Given the description of an element on the screen output the (x, y) to click on. 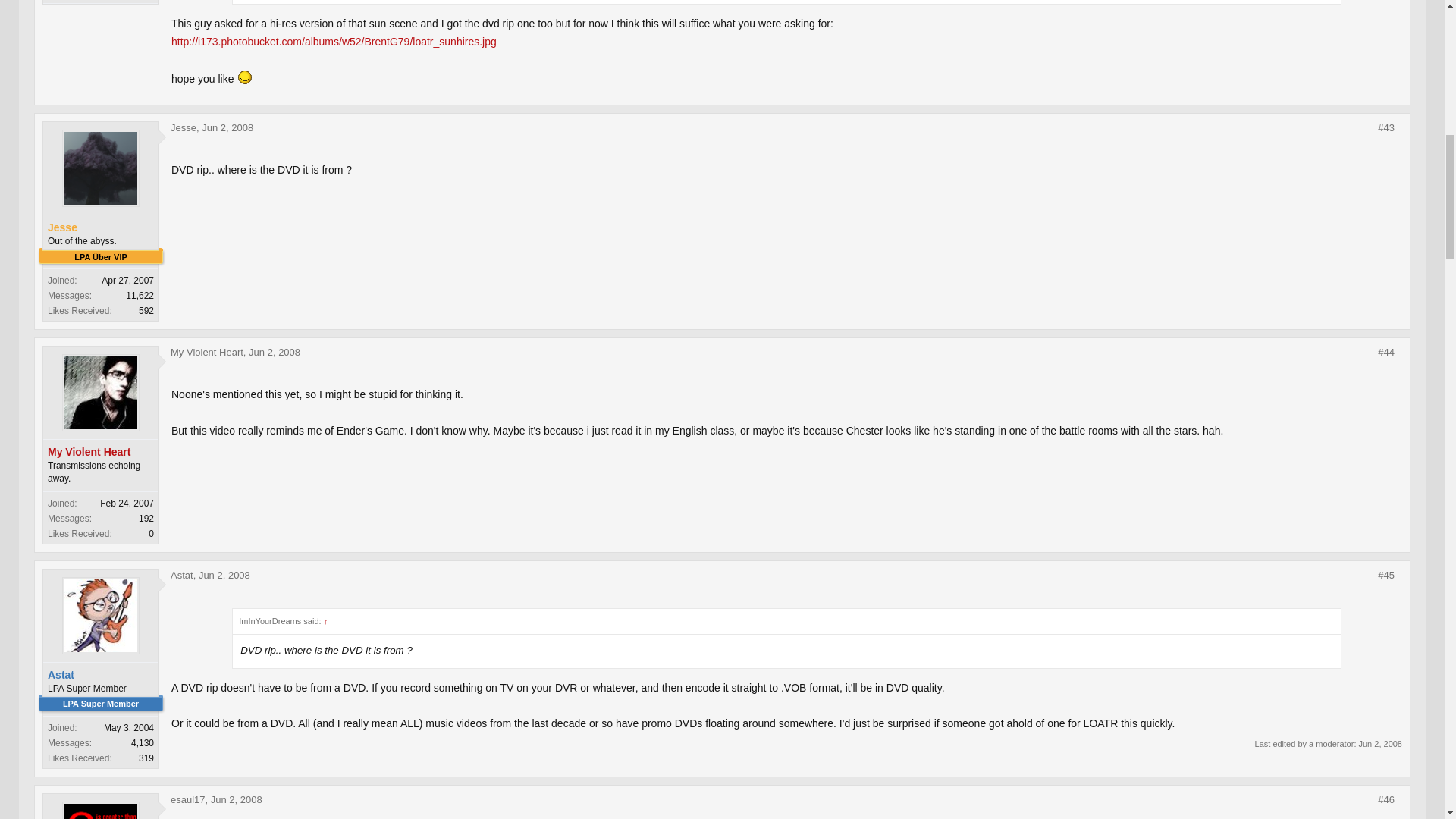
My Violent Heart (101, 451)
Permalink (273, 351)
Jun 2, 2008 (227, 127)
Permalink (1385, 575)
11,622 (139, 295)
Jesse (101, 227)
Permalink (1385, 352)
Jesse (183, 127)
Permalink (227, 127)
Permalink (1385, 128)
Permalink (224, 574)
